Given the description of an element on the screen output the (x, y) to click on. 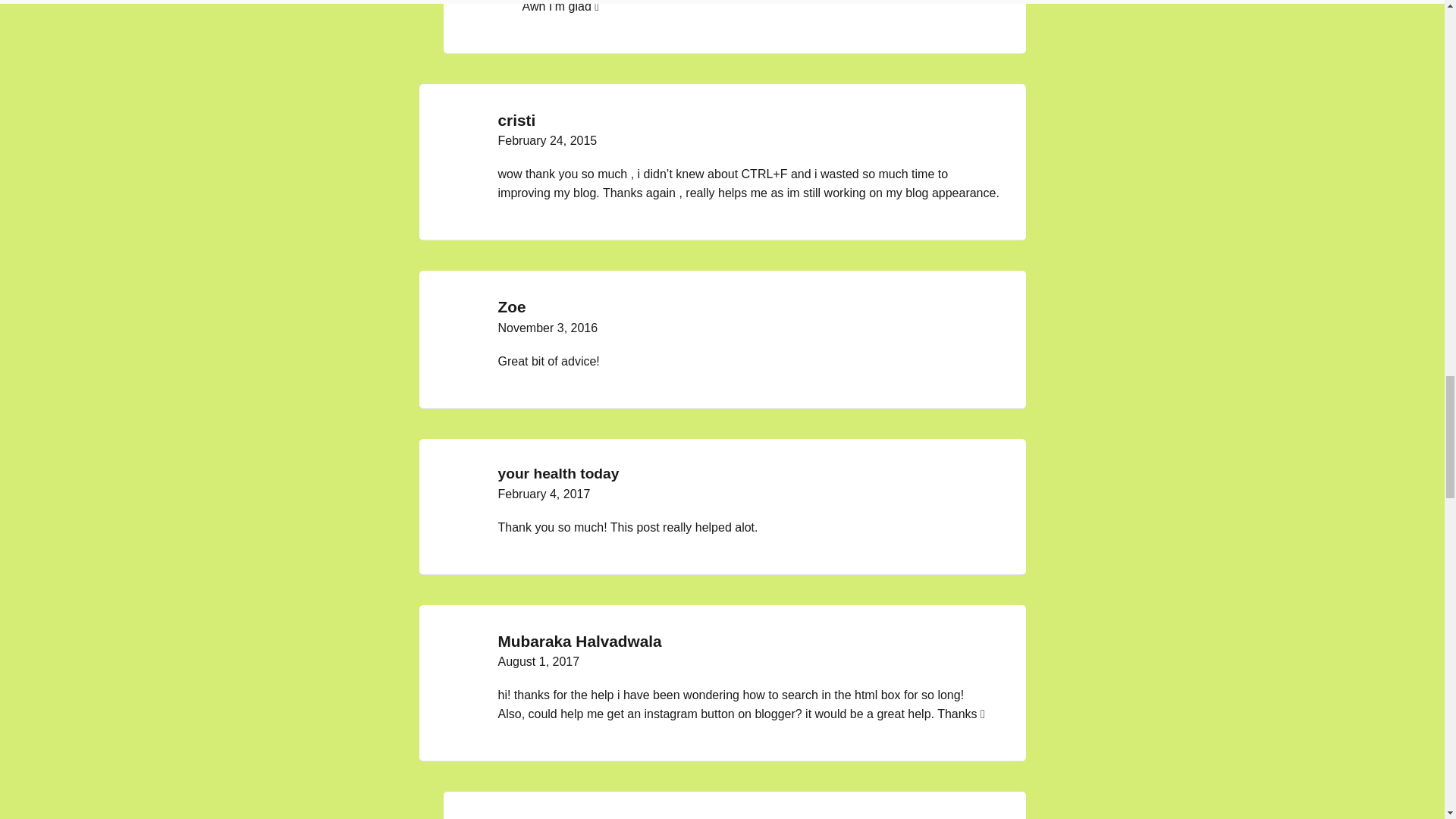
Mubaraka Halvadwala (579, 641)
February 24, 2015 (546, 140)
August 1, 2017 (538, 661)
Zoe (511, 306)
November 3, 2016 (546, 327)
cristi (516, 119)
February 4, 2017 (543, 493)
